Given the description of an element on the screen output the (x, y) to click on. 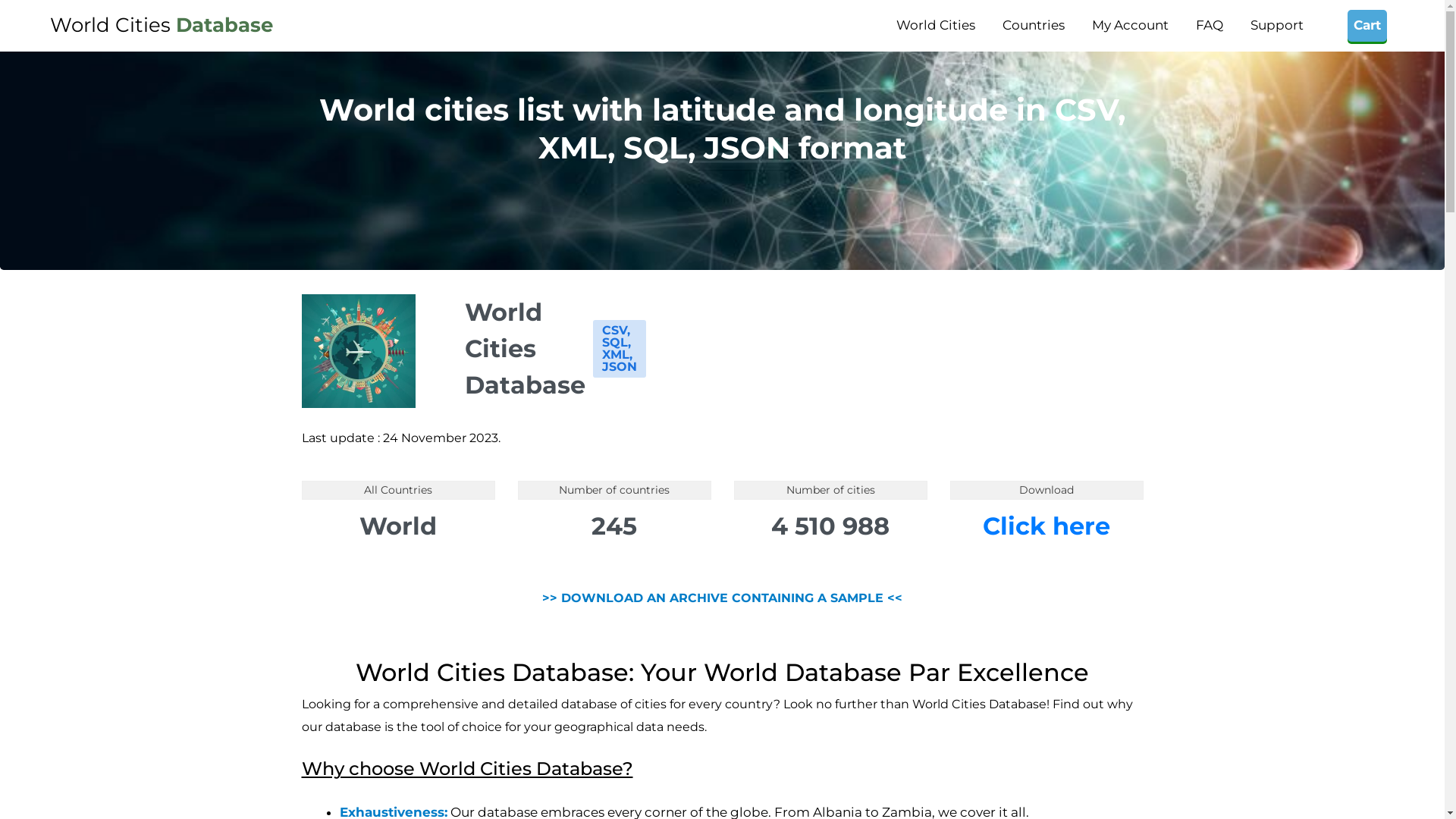
Click here Element type: text (1046, 525)
Cart Element type: text (1366, 25)
Countries Element type: text (1033, 25)
World Cities Element type: text (935, 25)
My Account Element type: text (1129, 25)
World Cities Database Element type: text (161, 24)
>> DOWNLOAD AN ARCHIVE CONTAINING A SAMPLE << Element type: text (722, 597)
Support Element type: text (1276, 25)
FAQ Element type: text (1209, 25)
